Given the description of an element on the screen output the (x, y) to click on. 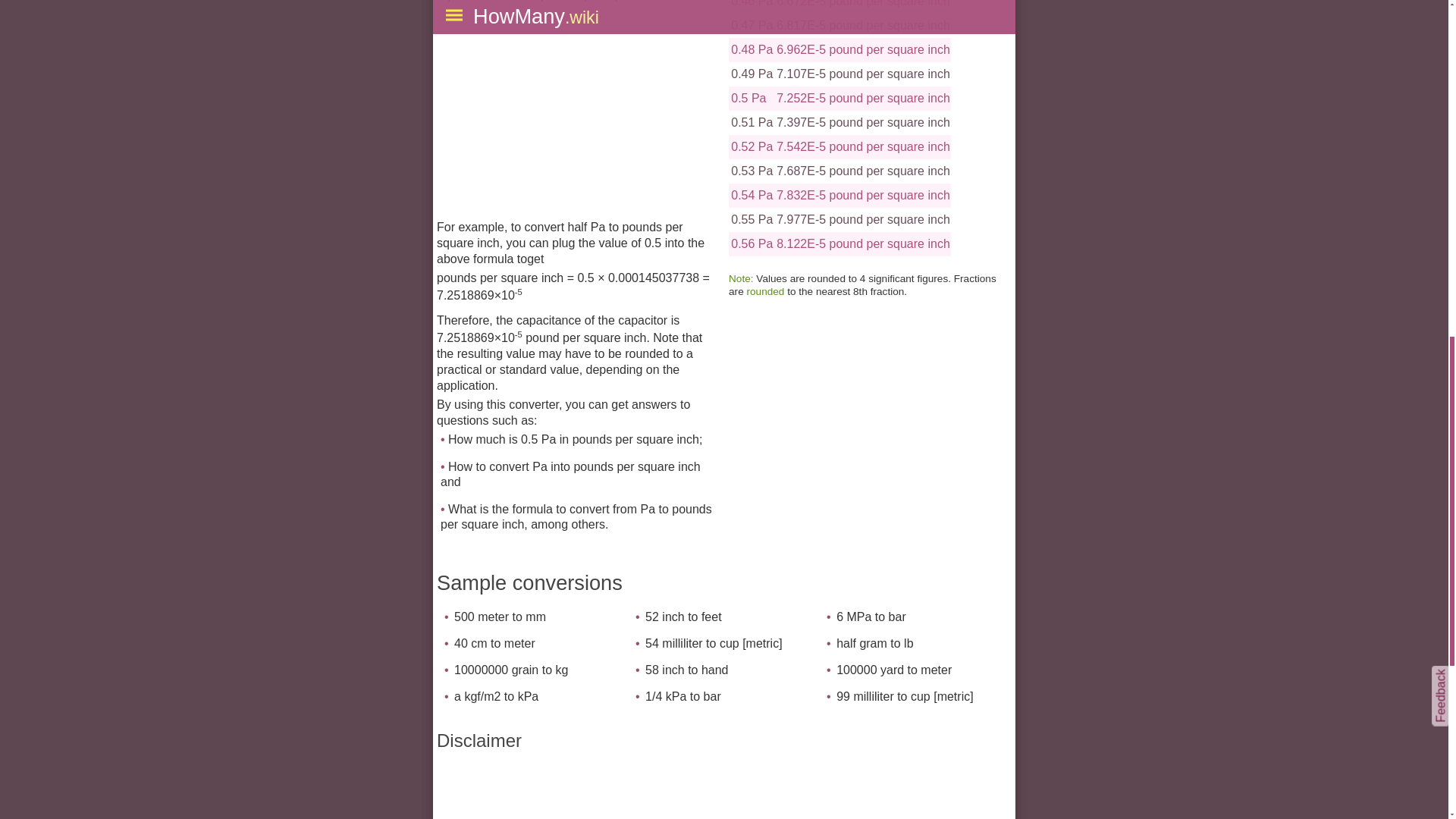
100000 yard to meter (893, 669)
40 cm to meter (494, 643)
52 inch to feet (683, 616)
500 meter to mm (500, 616)
52 inch to feet (683, 616)
40 cm to meter (494, 643)
6 MPa to bar (870, 616)
half gram to lb (873, 643)
10000000 grain to kg (510, 669)
58 inch to hand (686, 669)
